Given the description of an element on the screen output the (x, y) to click on. 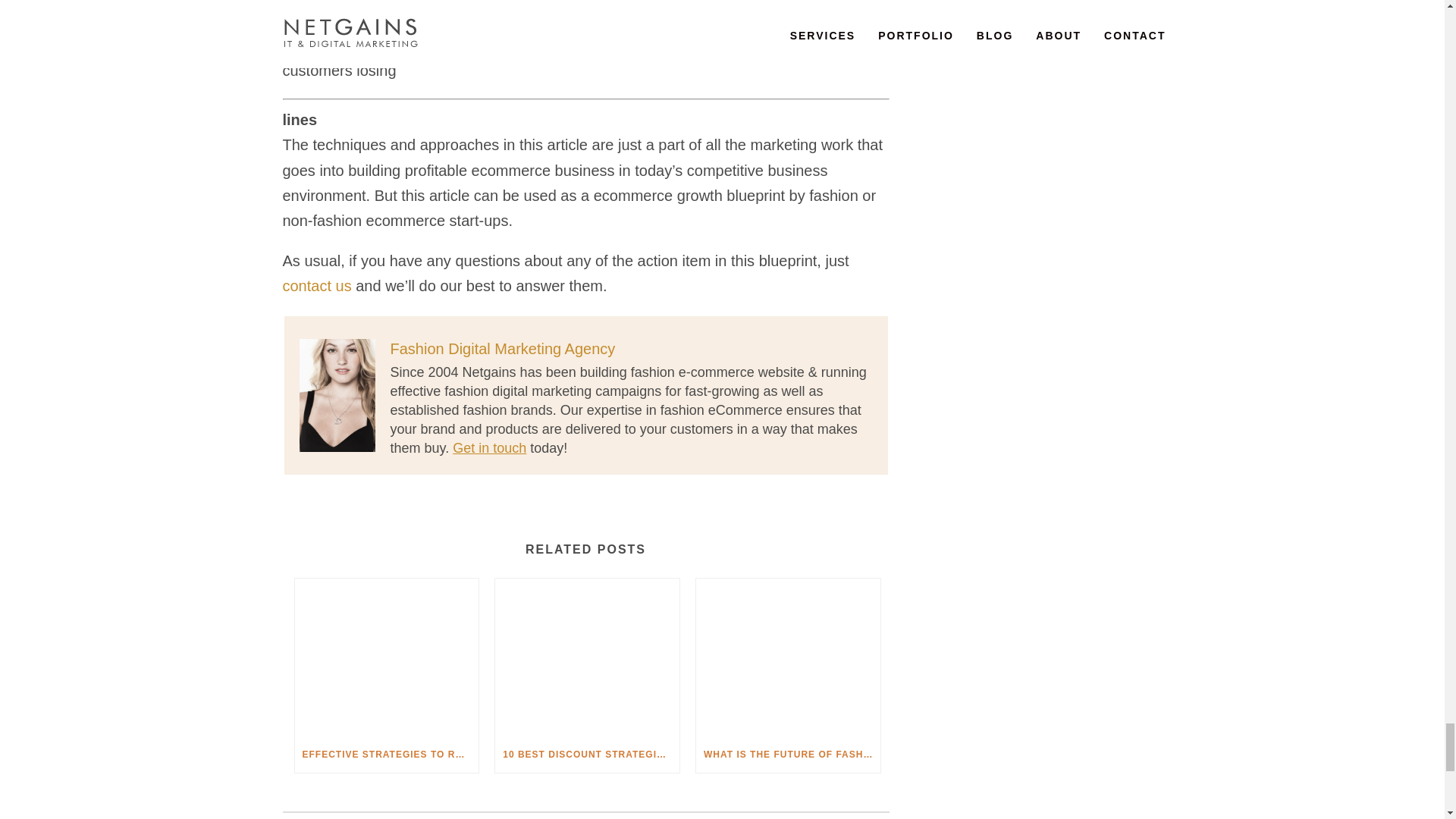
10 Best Discount Strategies for Fashion E-commerce Retailers (587, 657)
Effective Strategies to Reduce Shopping Cart Abandonment (386, 657)
What is the Future of Fashion Sourcing? (787, 657)
